Given the description of an element on the screen output the (x, y) to click on. 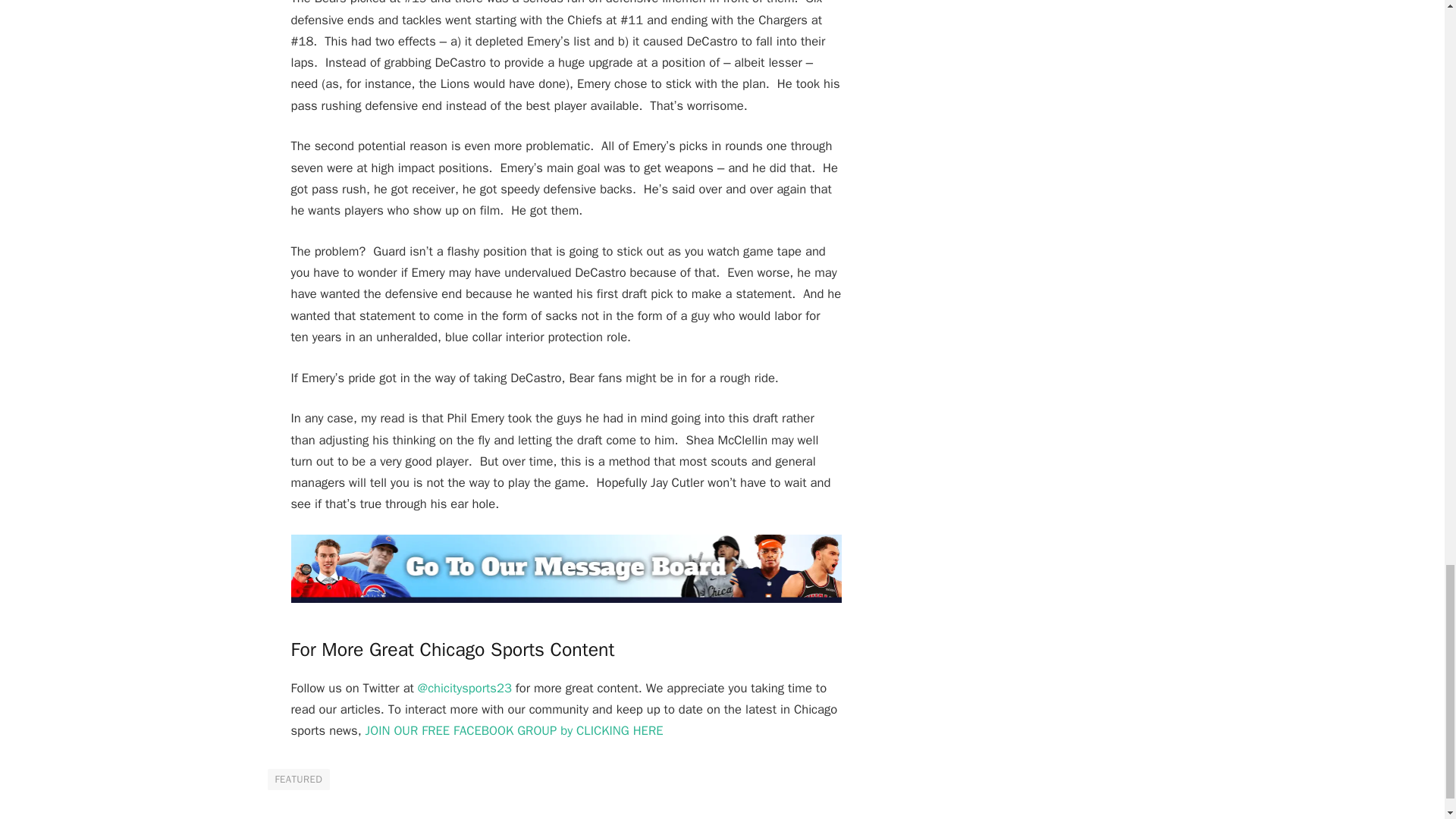
Emery's First Draft May Suggest a Worrisome Future 1 (566, 568)
